Given the description of an element on the screen output the (x, y) to click on. 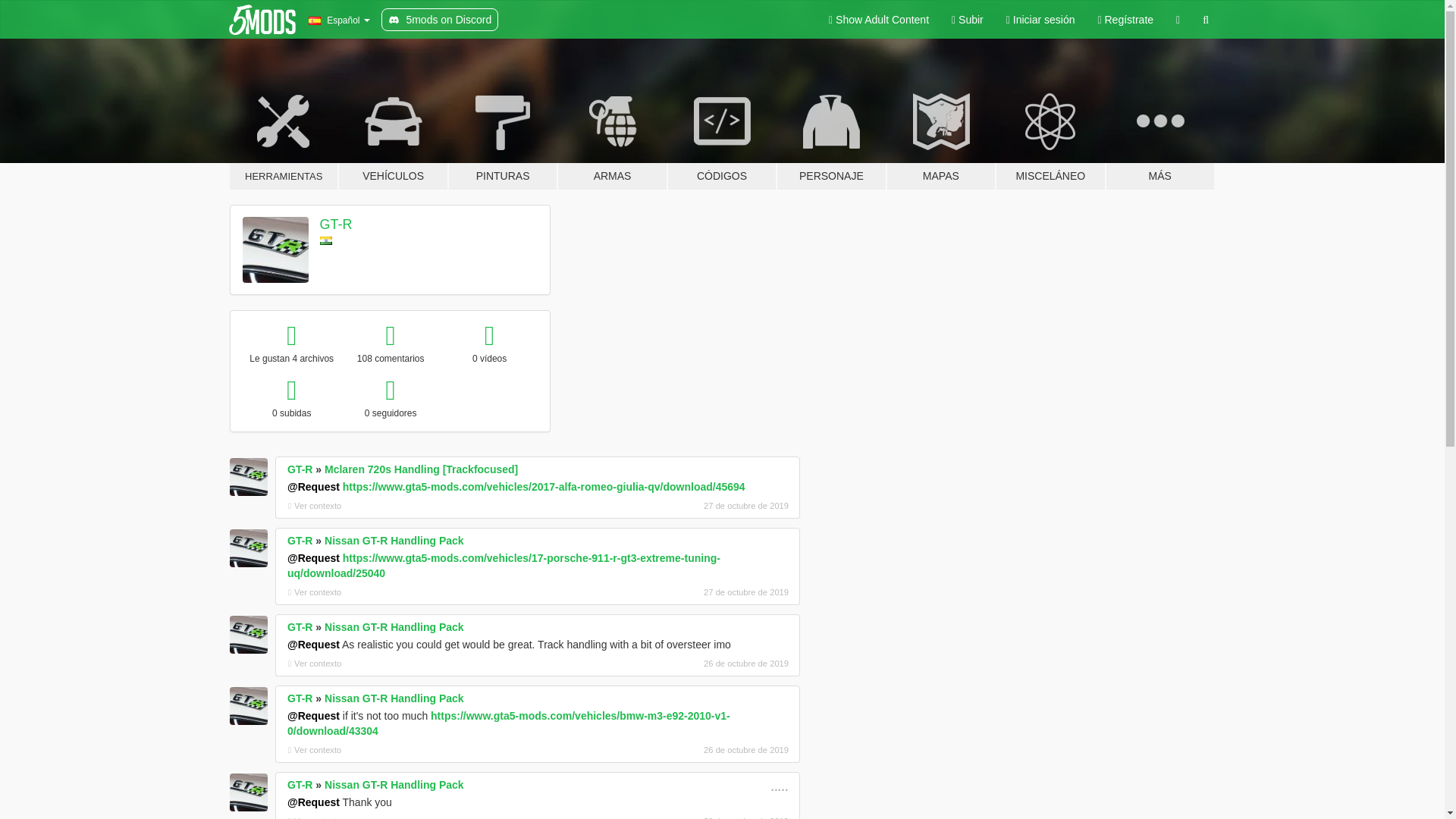
Light mode (878, 19)
Subir (967, 19)
Dark mode (1177, 19)
Show Adult Content (878, 19)
5mods on Discord (439, 19)
India (325, 240)
